Given the description of an element on the screen output the (x, y) to click on. 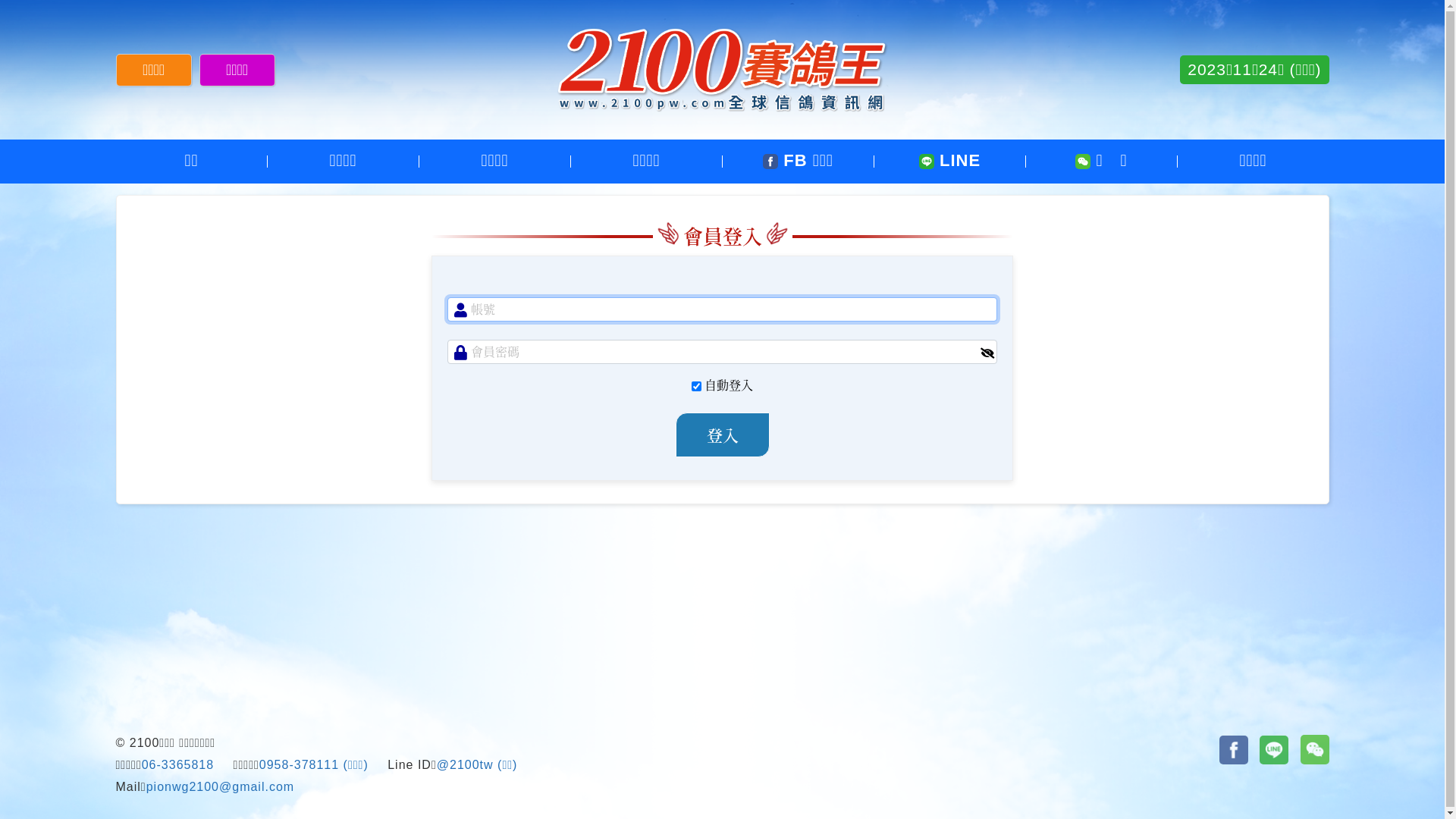
Facebook Element type: hover (1233, 749)
0958-378111 Element type: text (298, 764)
wechat Element type: hover (1314, 749)
pionwg2100@gmail.com Element type: text (220, 786)
LINE Element type: text (949, 161)
06-3365818 Element type: text (177, 764)
line Element type: hover (1273, 749)
